Given the description of an element on the screen output the (x, y) to click on. 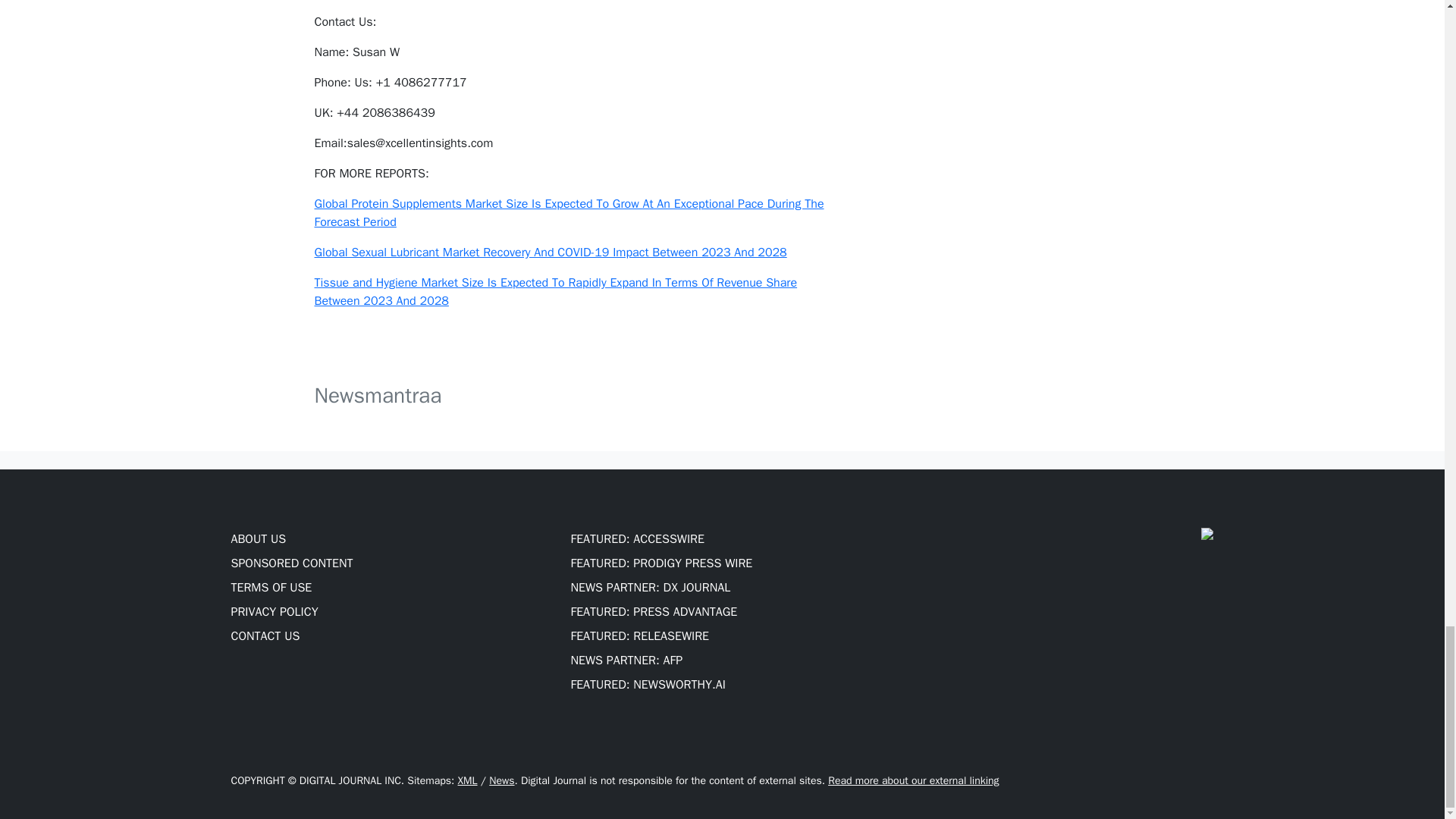
ABOUT US (257, 539)
TERMS OF USE (270, 587)
SPONSORED CONTENT (291, 563)
PRIVACY POLICY (273, 611)
